Given the description of an element on the screen output the (x, y) to click on. 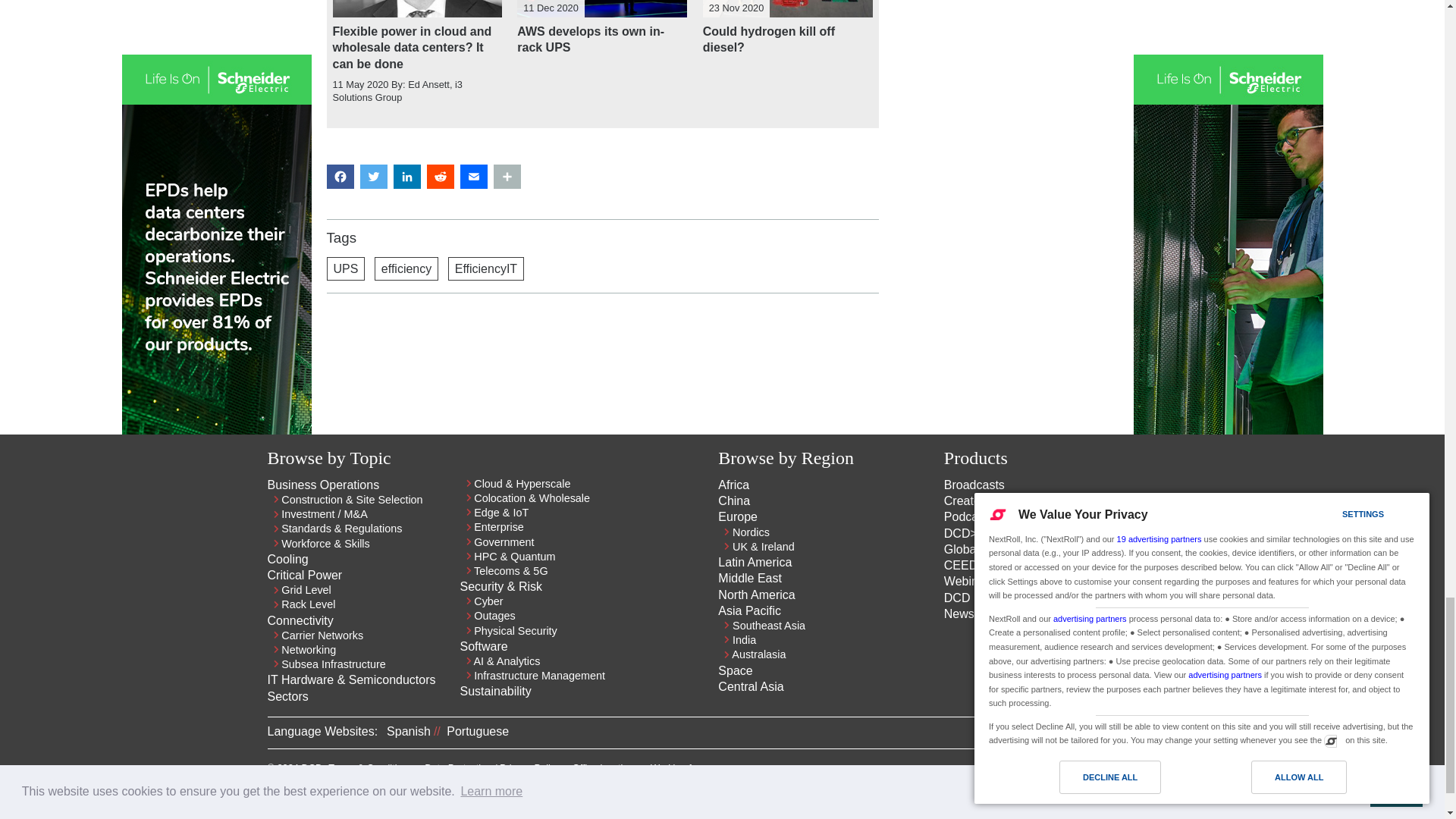
UPS efficiency EfficiencyIT (601, 268)
Linkedin (1113, 771)
3rd party ad content (601, 357)
Twitter (1140, 771)
Facebook (1167, 771)
